Given the description of an element on the screen output the (x, y) to click on. 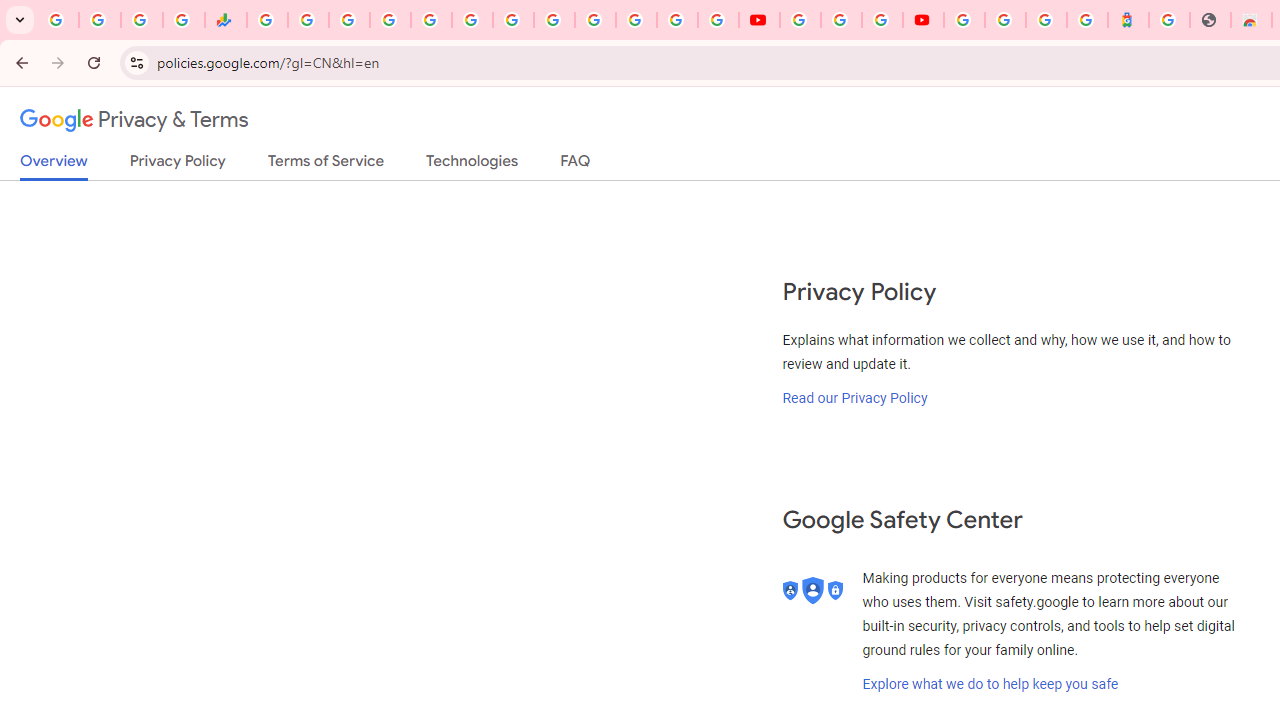
Sign in - Google Accounts (389, 20)
YouTube (553, 20)
YouTube (758, 20)
Privacy Checkup (717, 20)
Content Creator Programs & Opportunities - YouTube Creators (923, 20)
